Given the description of an element on the screen output the (x, y) to click on. 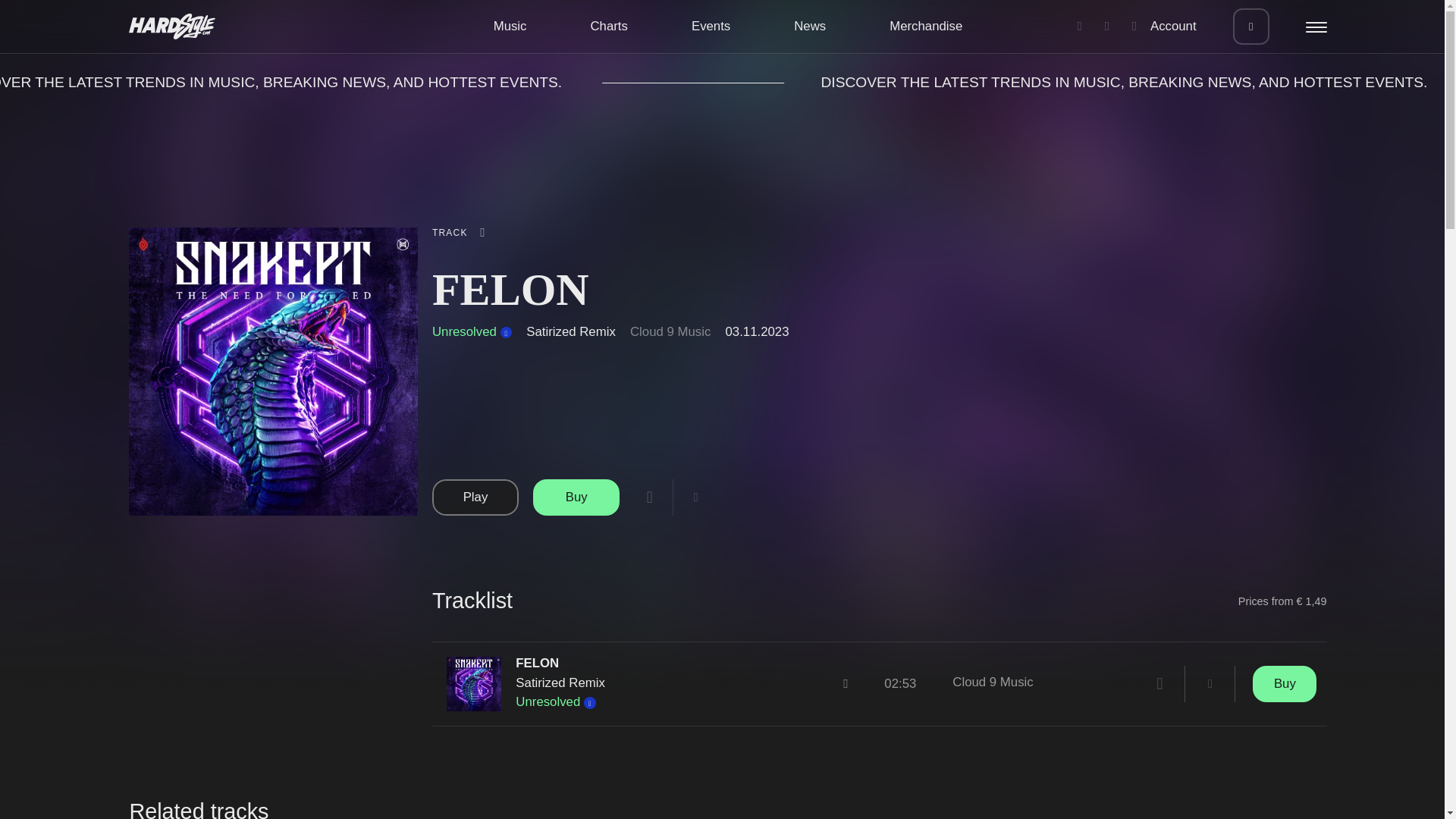
Events (710, 25)
Events (710, 25)
News (809, 25)
Account (1164, 25)
Merchandise (925, 25)
Charts (608, 25)
Merchandise (925, 25)
Charts (608, 25)
News (809, 25)
Music (510, 25)
Music (510, 25)
